Given the description of an element on the screen output the (x, y) to click on. 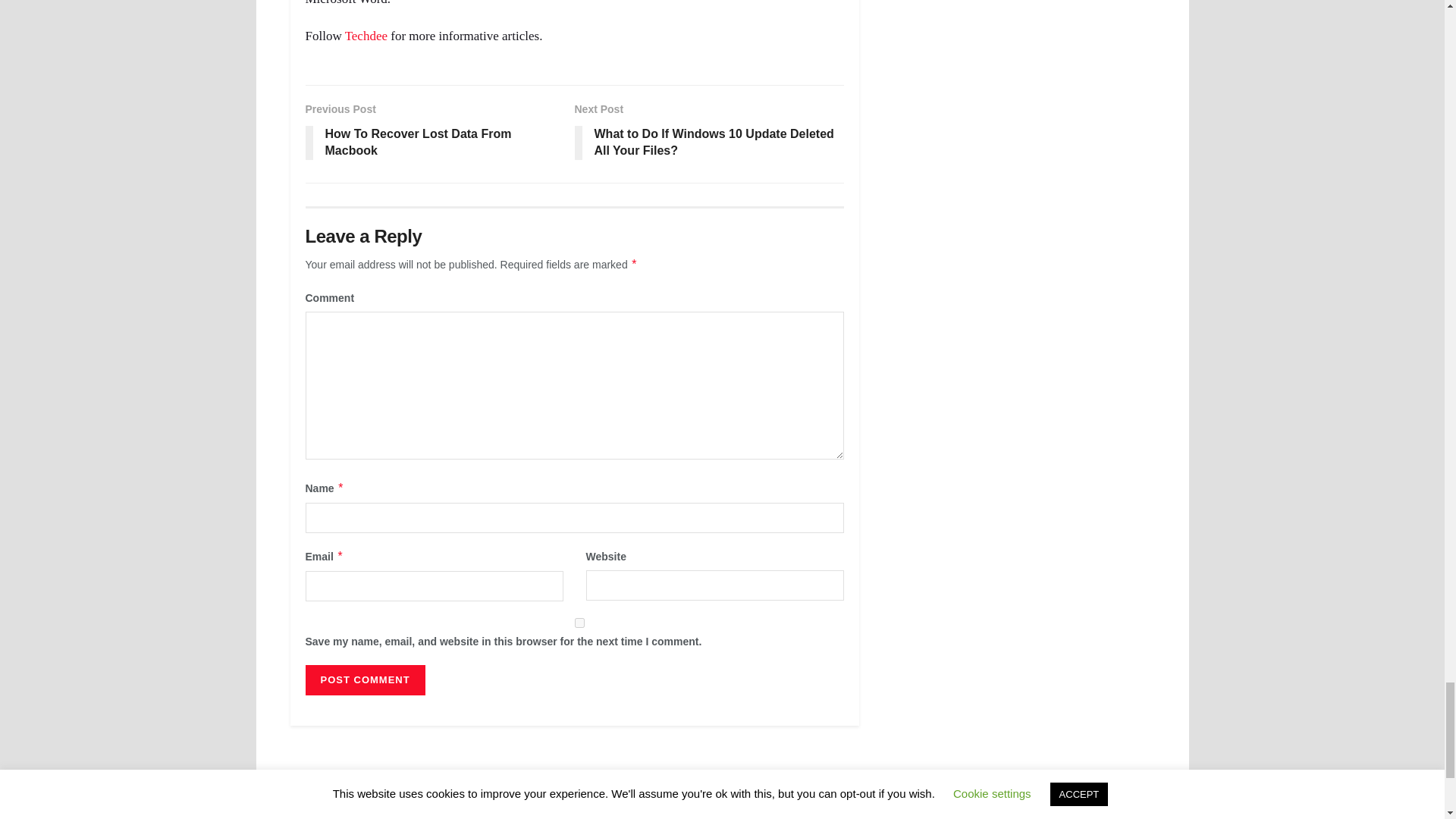
Post Comment (364, 680)
yes (580, 623)
